Given the description of an element on the screen output the (x, y) to click on. 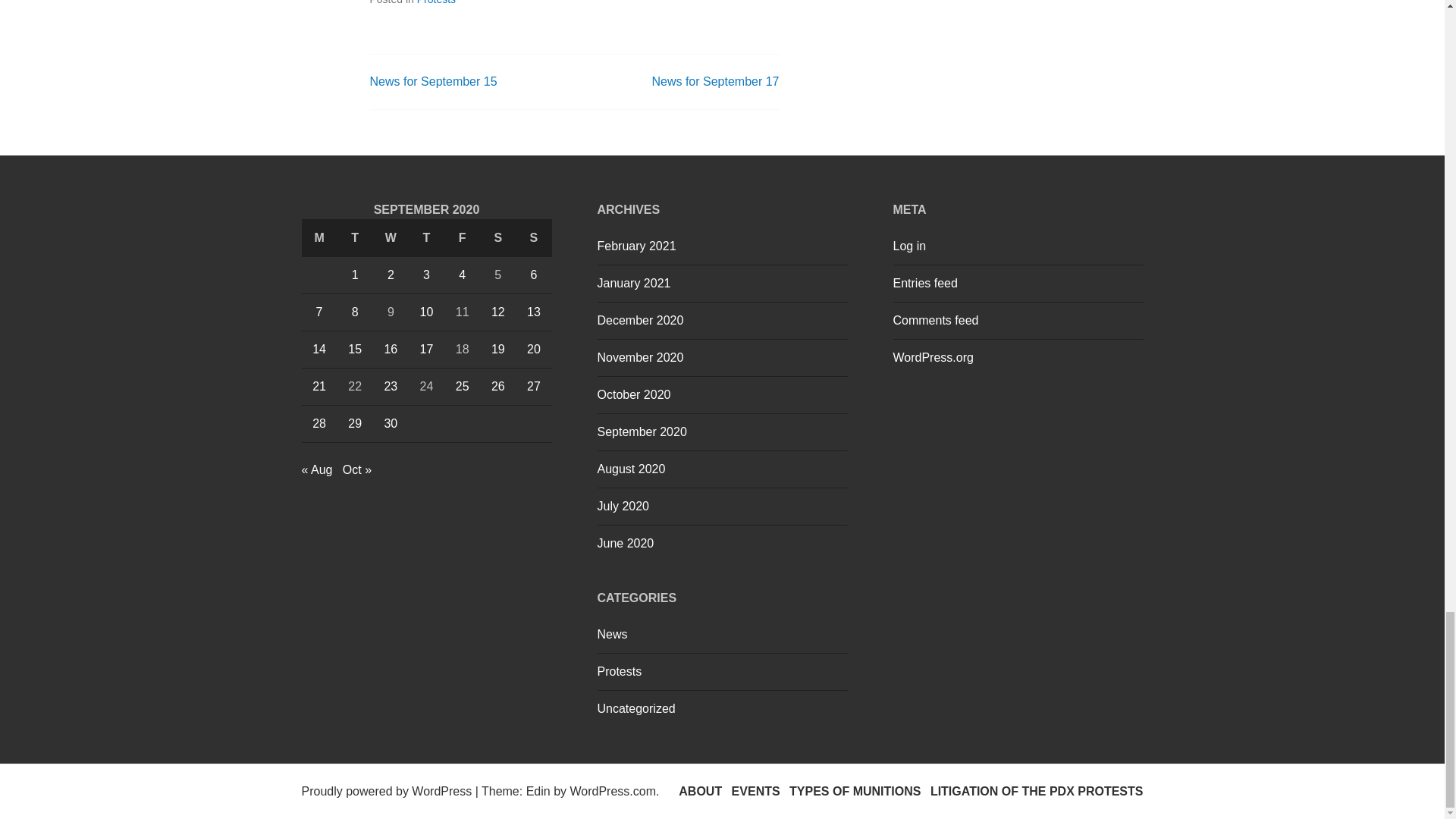
Tuesday (354, 238)
News for September 17 (714, 81)
News for September 15 (433, 81)
Friday (462, 238)
Monday (319, 238)
Saturday (497, 238)
Wednesday (390, 238)
Protests (435, 2)
Sunday (533, 238)
Thursday (426, 238)
